Given the description of an element on the screen output the (x, y) to click on. 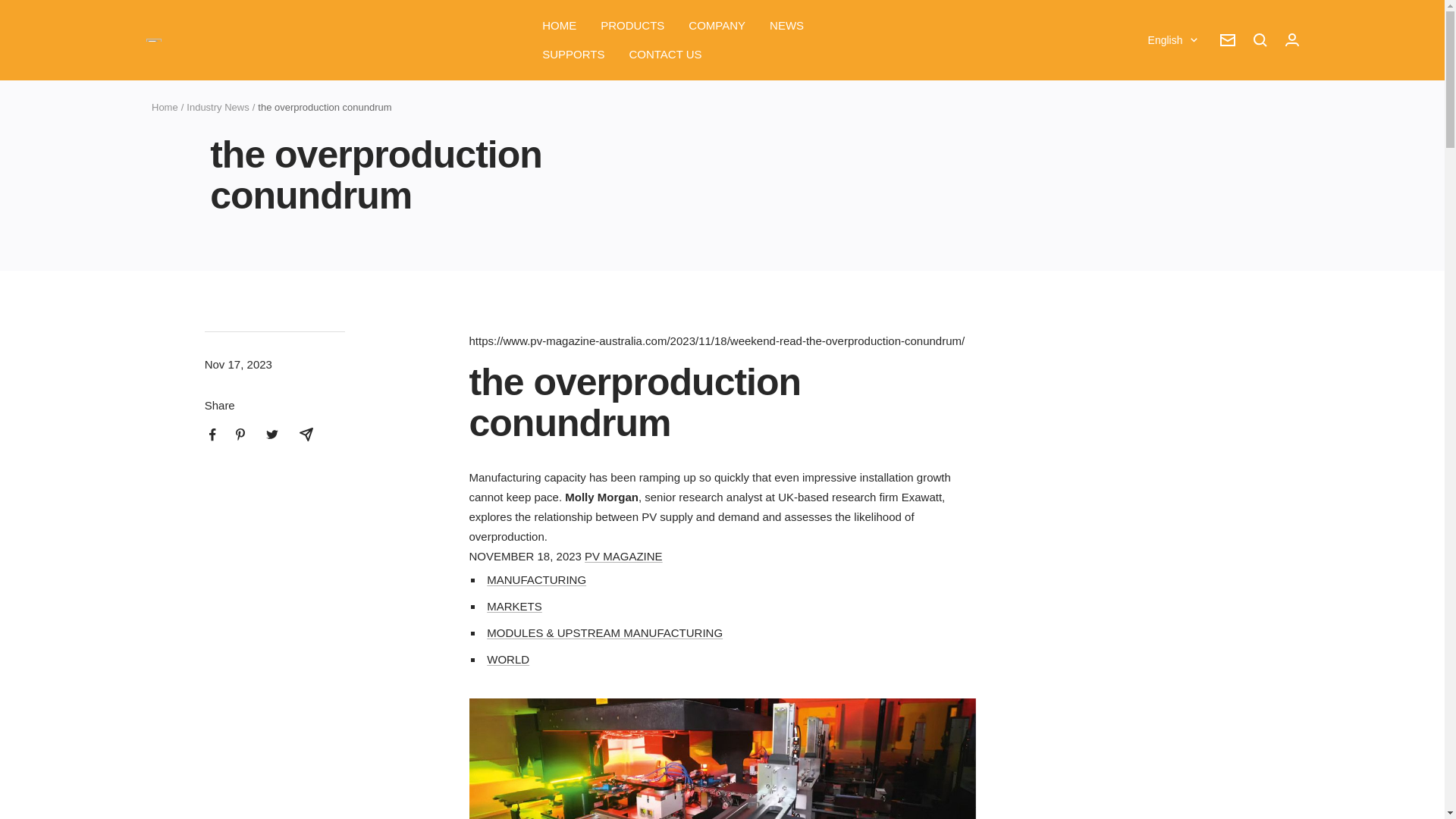
solarparts (152, 40)
CONTACT US (664, 54)
es (1162, 192)
Home (164, 107)
English (1172, 40)
Newsletter (1227, 39)
PV MAGAZINE (623, 555)
PRODUCTS (631, 25)
ja (1162, 167)
SUPPORTS (572, 54)
de (1162, 117)
Saturday, November 18, 2023, 8:15 am (524, 555)
NEWS (786, 25)
it (1162, 217)
ko (1162, 242)
